Given the description of an element on the screen output the (x, y) to click on. 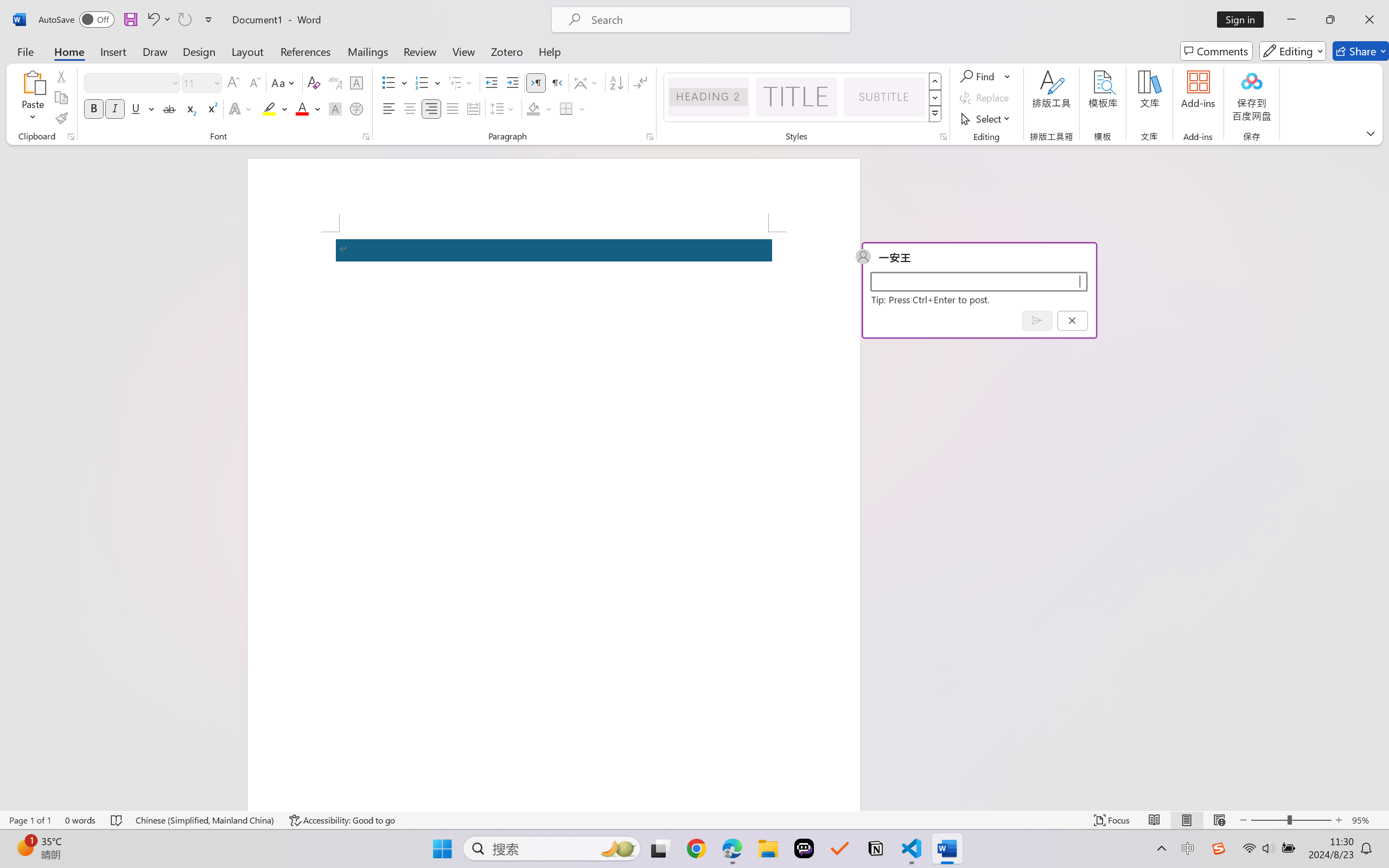
Text Highlight Color RGB(255, 255, 0) (269, 108)
